Given the description of an element on the screen output the (x, y) to click on. 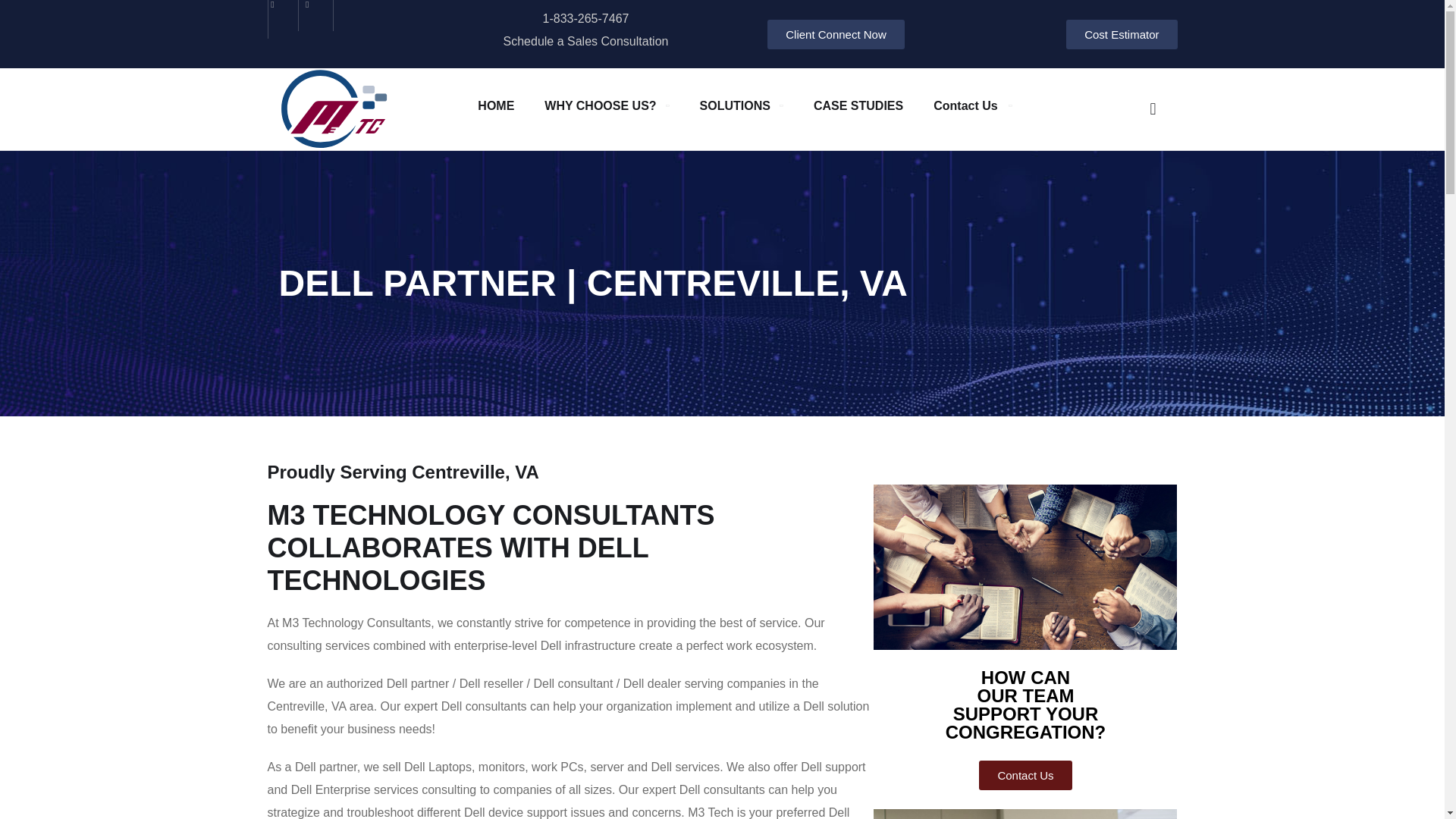
WHY CHOOSE US? (606, 105)
Cost Estimator (1120, 34)
Schedule a Sales Consultation (585, 41)
SOLUTIONS (741, 105)
Client Connect Now (835, 34)
Contact Us (971, 105)
1-833-265-7467 (585, 18)
CASE STUDIES (857, 105)
Contact Us (1024, 775)
